Given the description of an element on the screen output the (x, y) to click on. 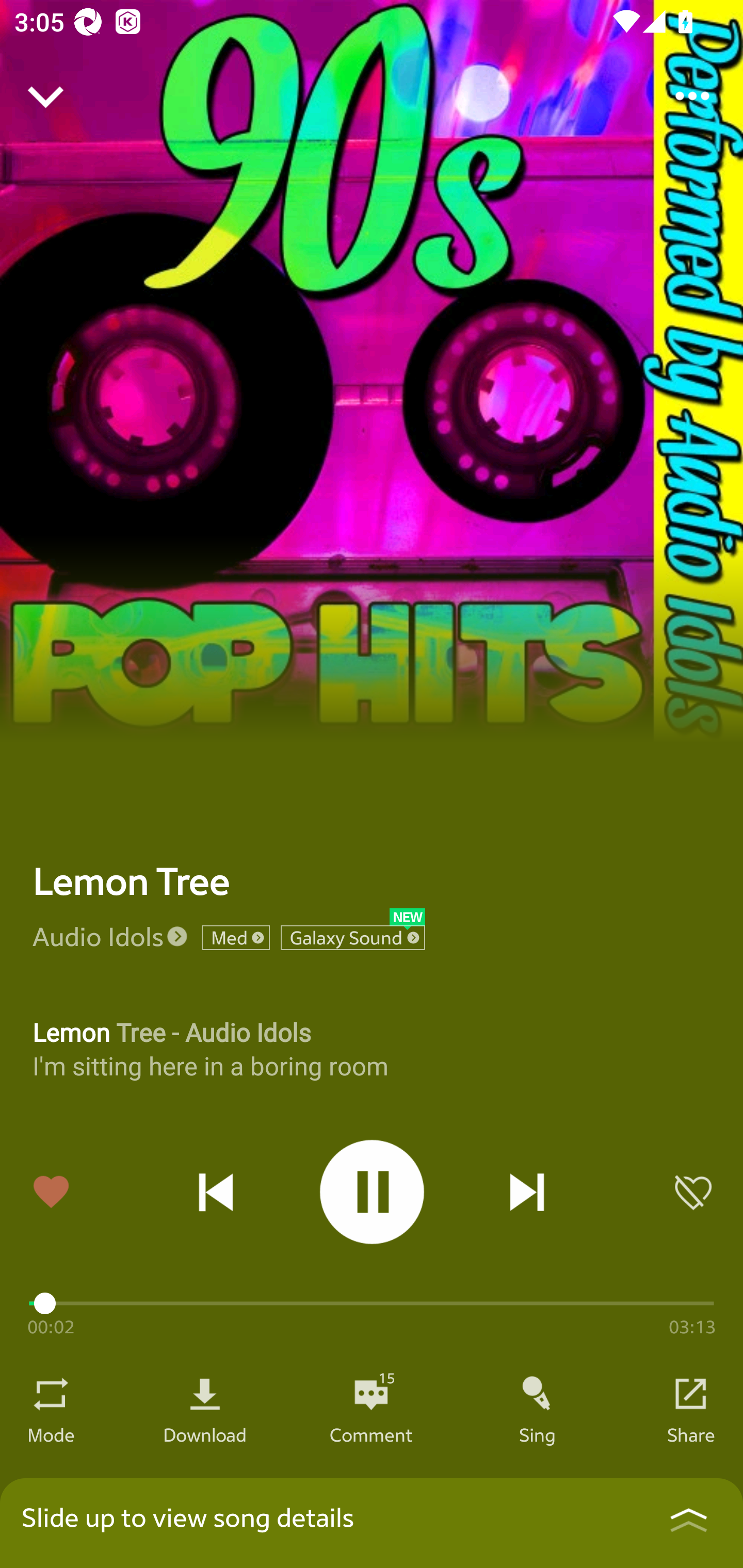
Lemon Tree (131, 881)
Audio Idols (97, 935)
Med (235, 937)
Galaxy Sound (352, 937)
15 (371, 1393)
Mode (51, 1434)
Download (204, 1434)
Comment (370, 1434)
Sing (537, 1434)
Share (691, 1434)
Slide up to view song details (371, 1523)
